Given the description of an element on the screen output the (x, y) to click on. 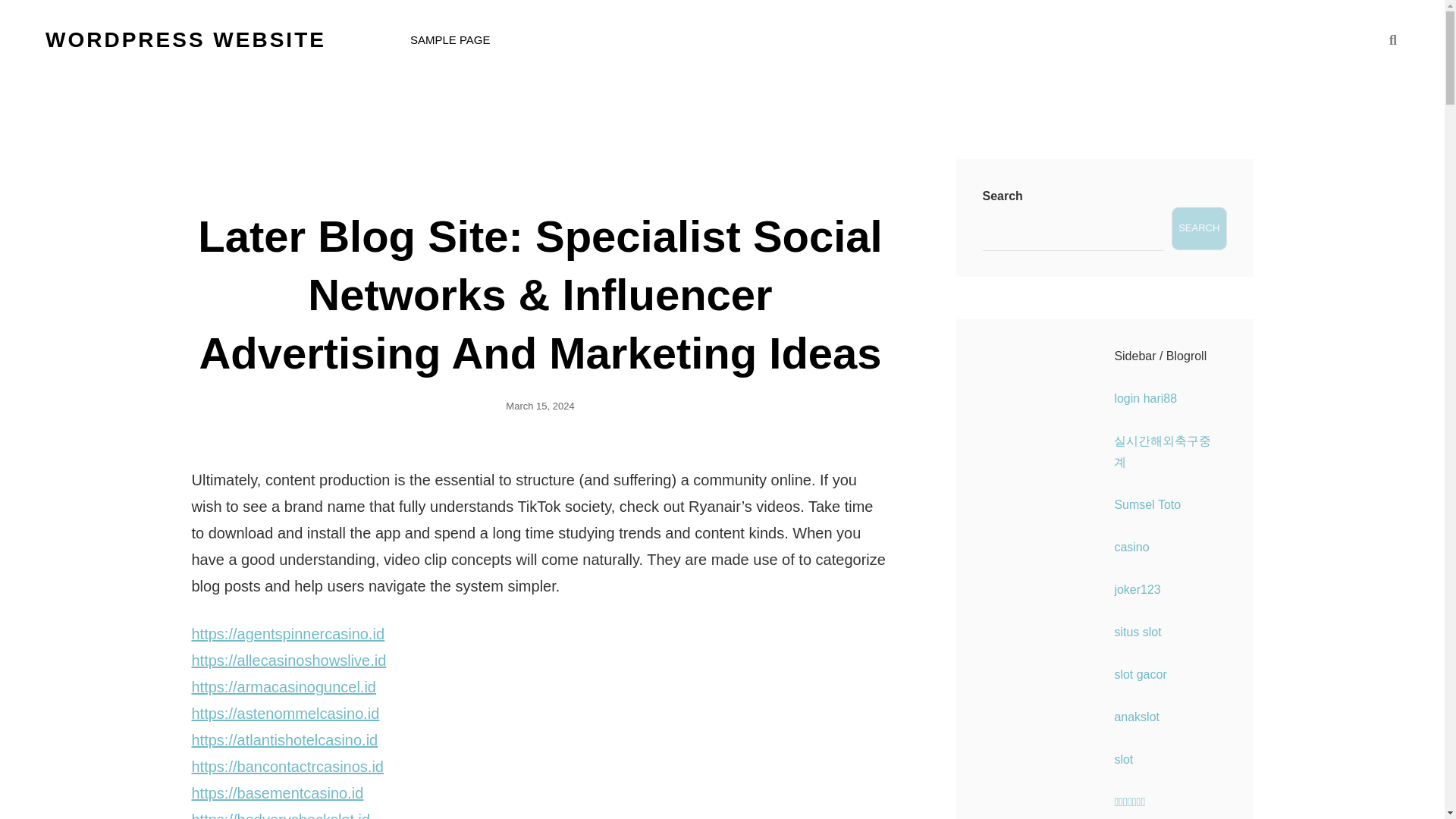
WORDPRESS WEBSITE (185, 39)
SEARCH (1392, 39)
SAMPLE PAGE (449, 40)
March 15, 2024 (539, 405)
